Given the description of an element on the screen output the (x, y) to click on. 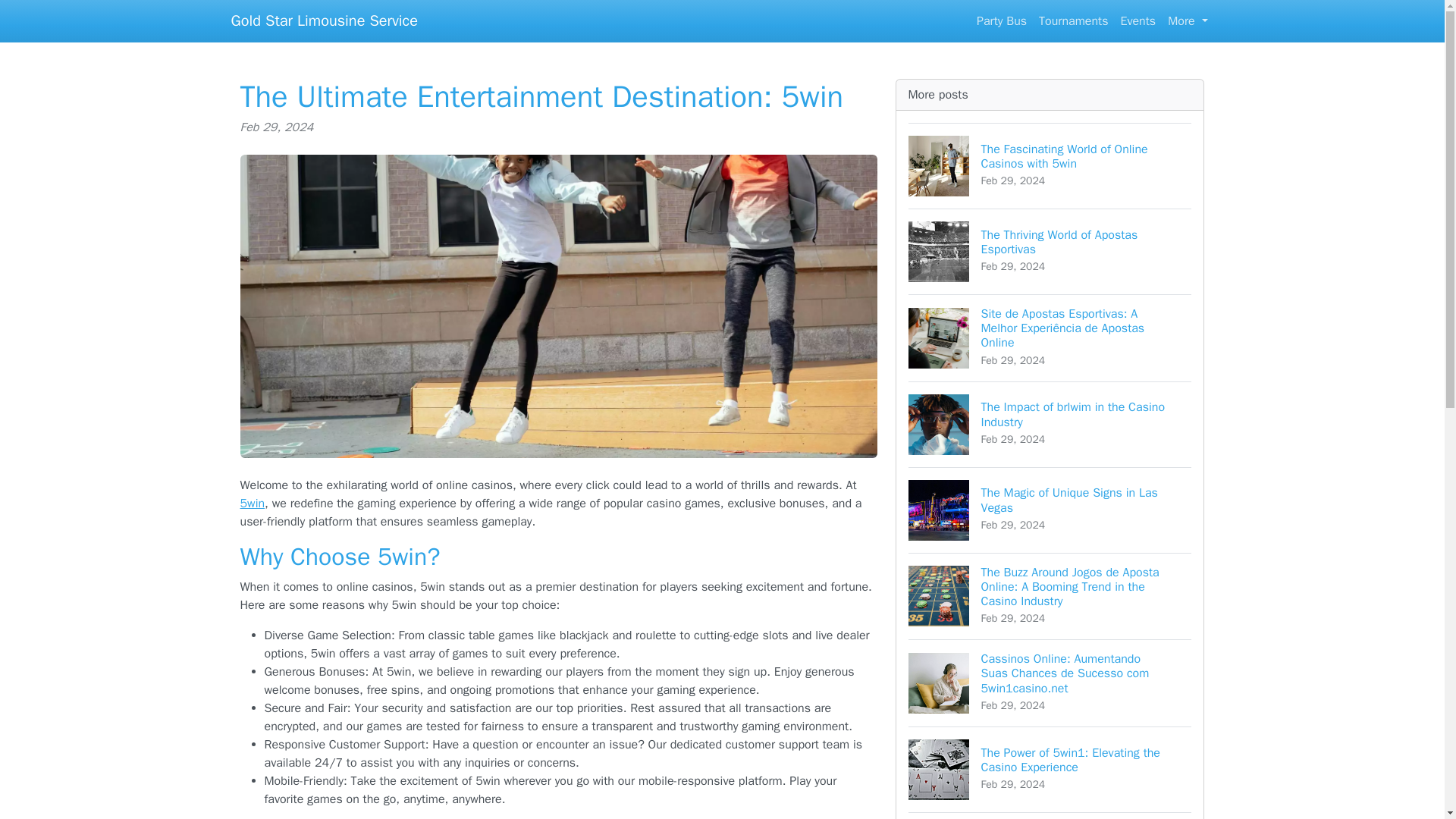
5win (252, 503)
Gold Star Limousine Service (1050, 423)
Party Bus (323, 20)
More (1001, 20)
